Given the description of an element on the screen output the (x, y) to click on. 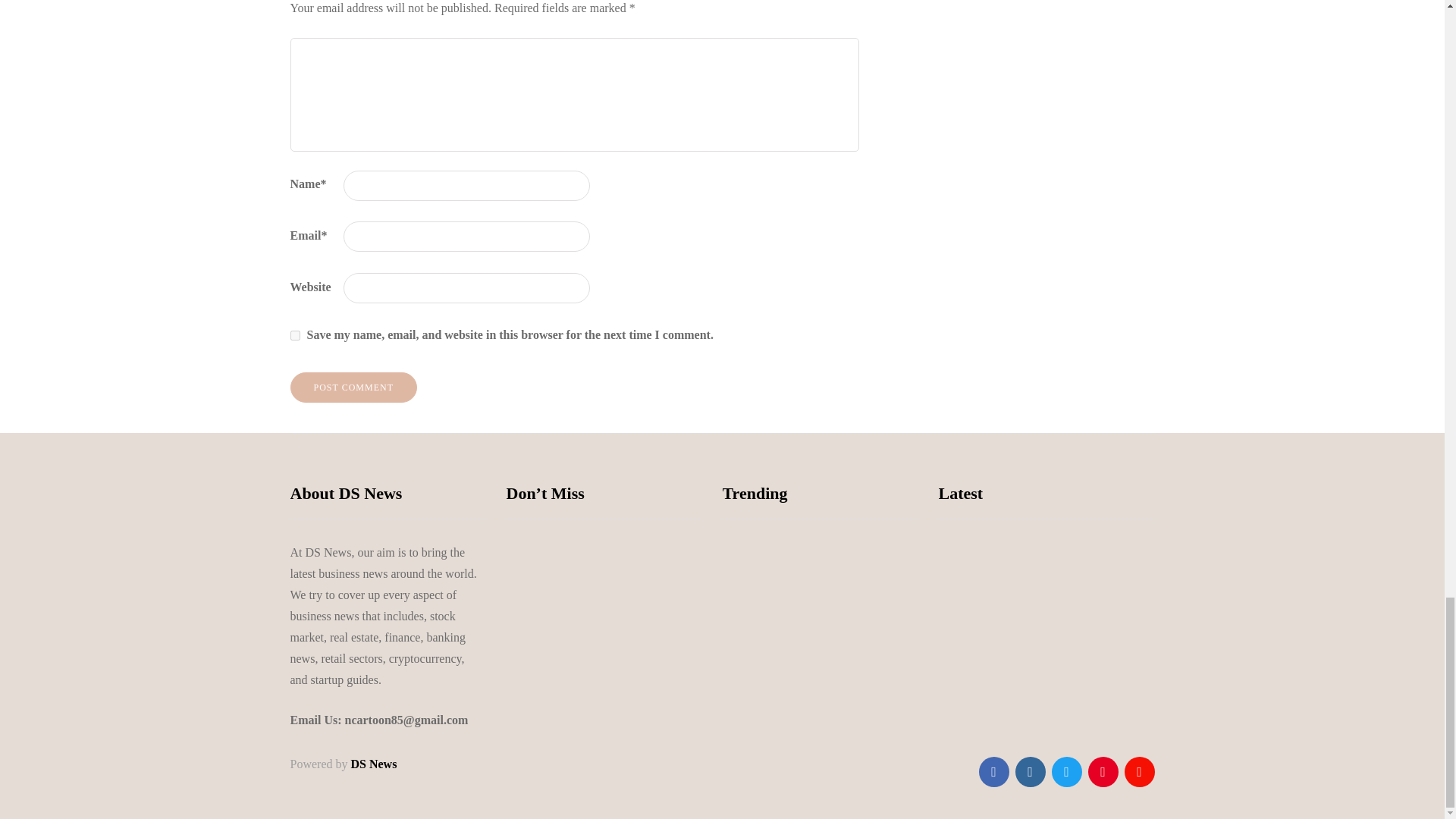
yes (294, 335)
Post comment (352, 387)
